Given the description of an element on the screen output the (x, y) to click on. 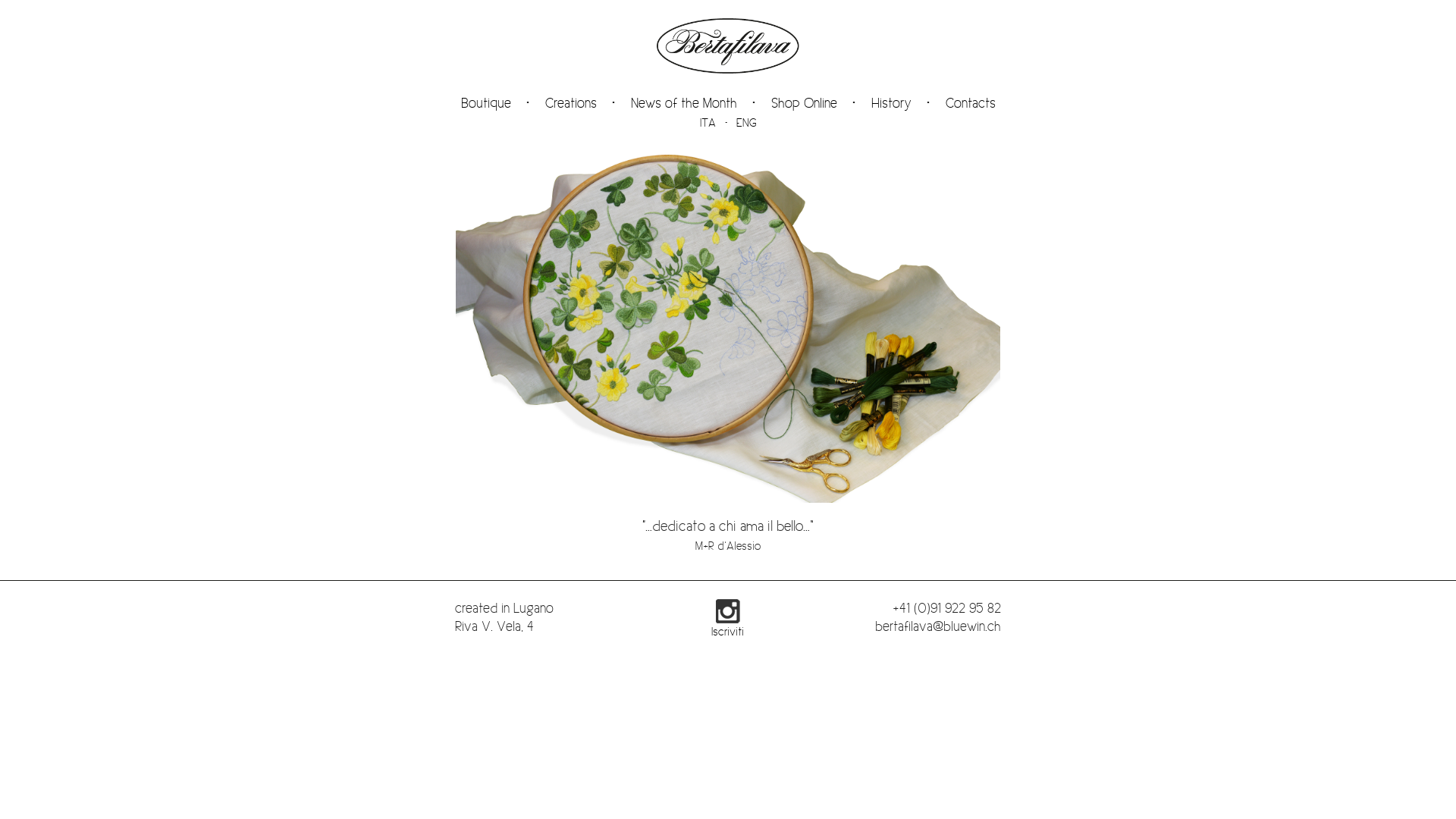
History Element type: text (890, 102)
News of the Month Element type: text (683, 102)
Shop Online Element type: text (803, 102)
ENG Element type: text (745, 122)
Creations Element type: text (570, 102)
ITA Element type: text (707, 122)
Boutique Element type: text (486, 102)
Iscriviti Element type: text (727, 621)
Contacts Element type: text (969, 102)
